Given the description of an element on the screen output the (x, y) to click on. 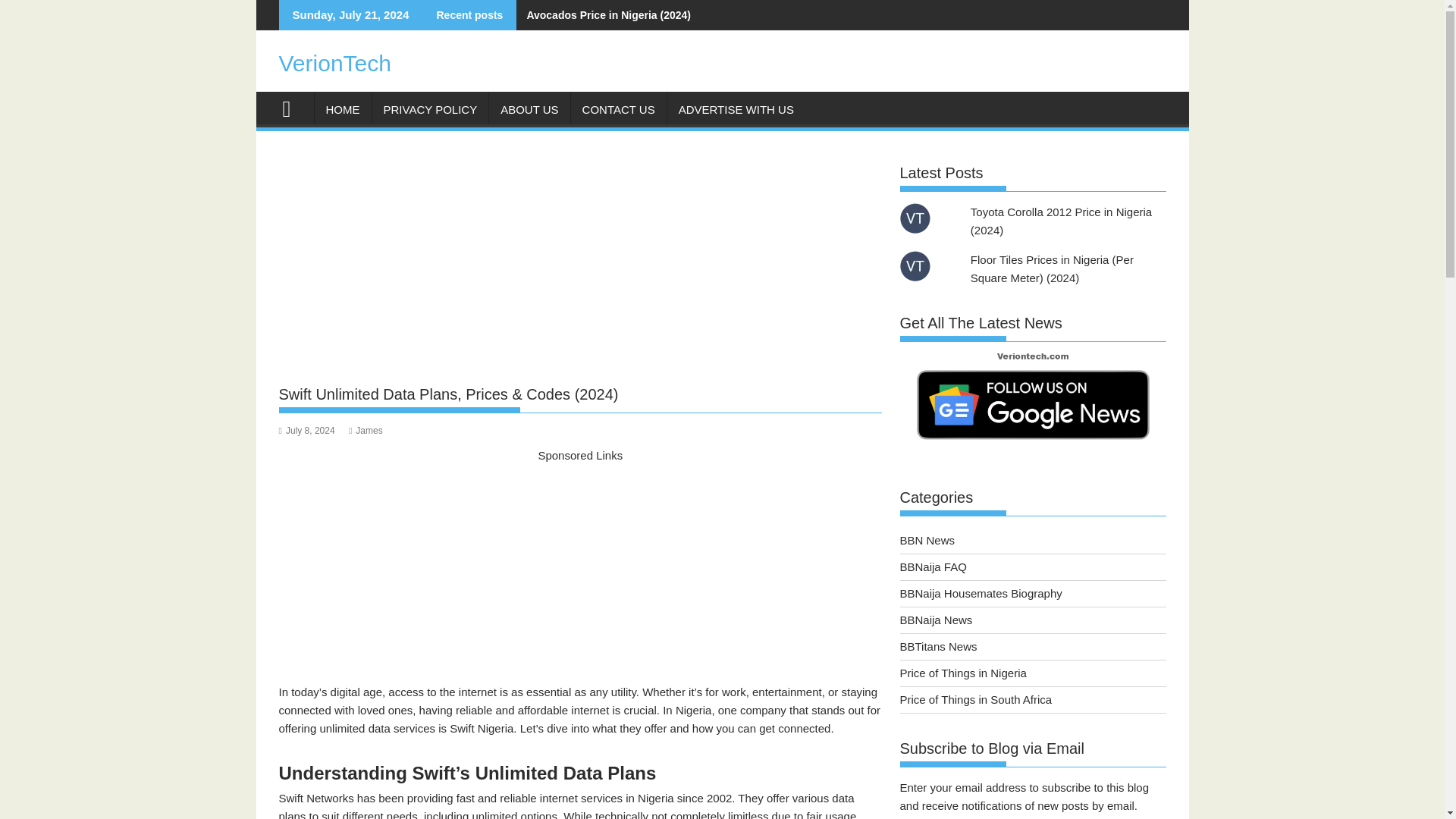
PRIVACY POLICY (429, 109)
July 8, 2024 (306, 430)
VerionTech (293, 106)
ADVERTISE WITH US (735, 109)
Advertisement (580, 264)
James (365, 430)
ABOUT US (529, 109)
Advertisement (580, 571)
HOME (342, 109)
VerionTech (335, 63)
CONTACT US (618, 109)
